Given the description of an element on the screen output the (x, y) to click on. 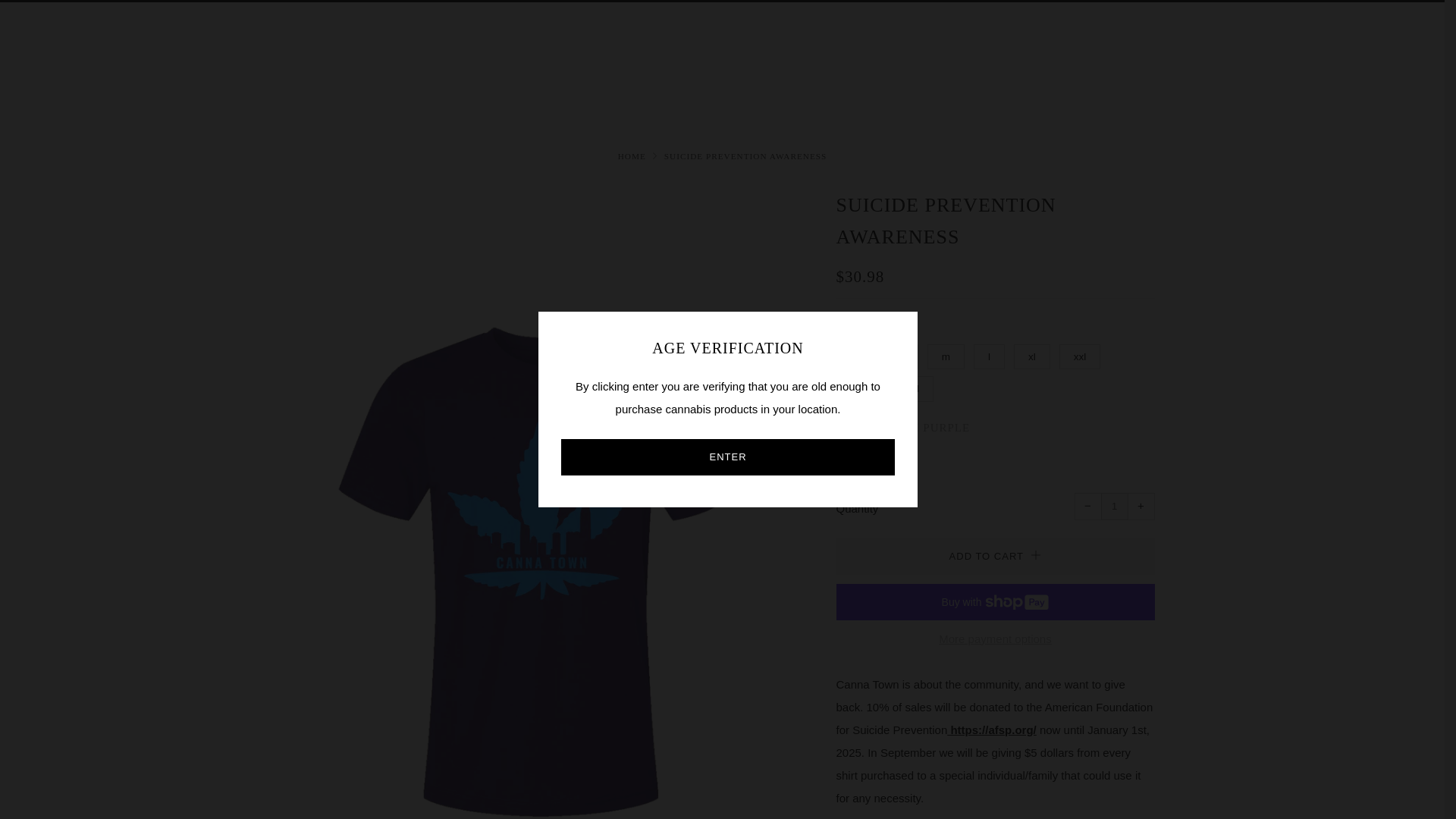
SHOP (47, 61)
1 (1114, 506)
Home (631, 155)
ENTER (727, 456)
